Given the description of an element on the screen output the (x, y) to click on. 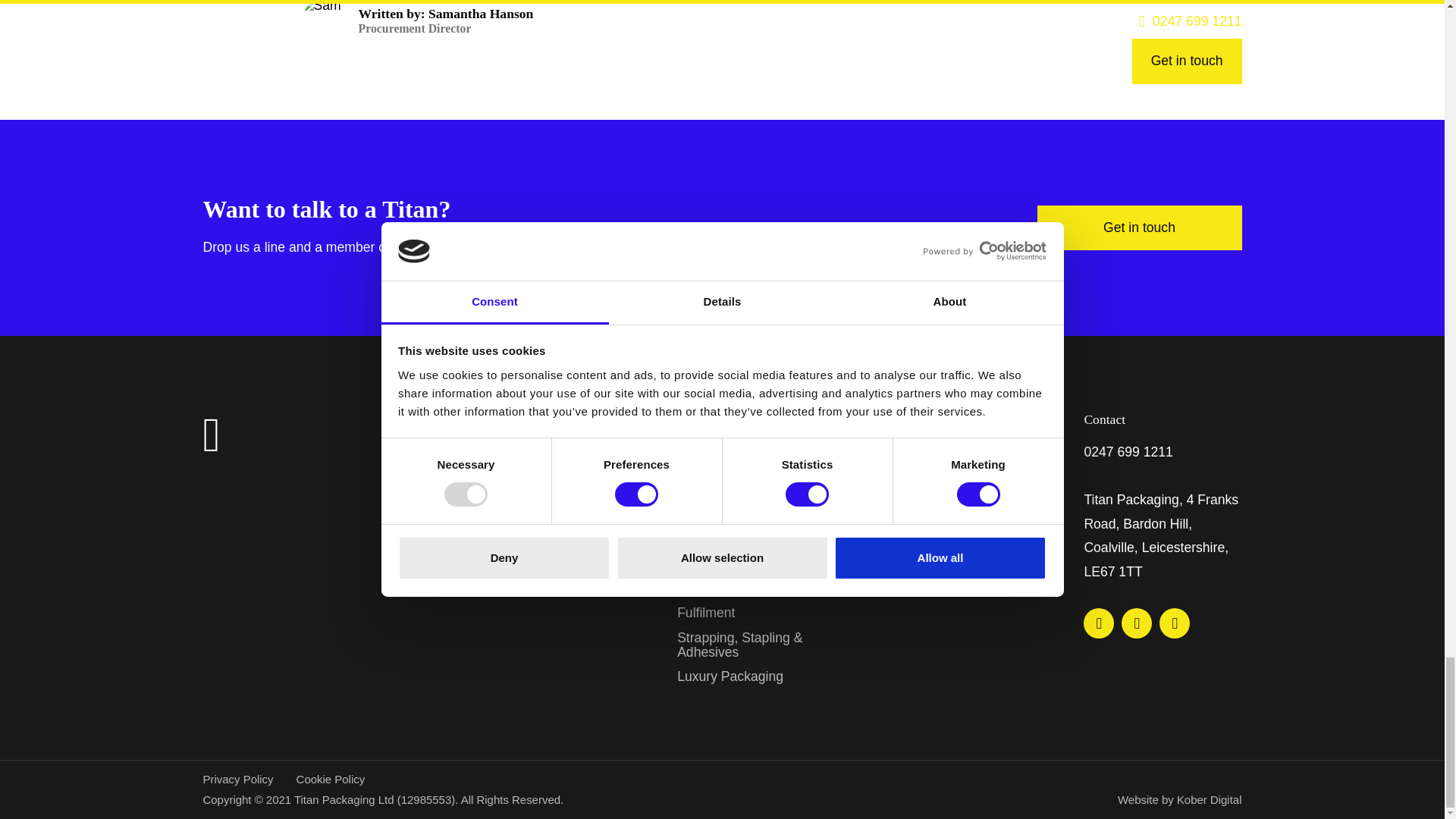
Instagram (1173, 623)
LinkedIn (1098, 623)
Twitter (1136, 623)
